Given the description of an element on the screen output the (x, y) to click on. 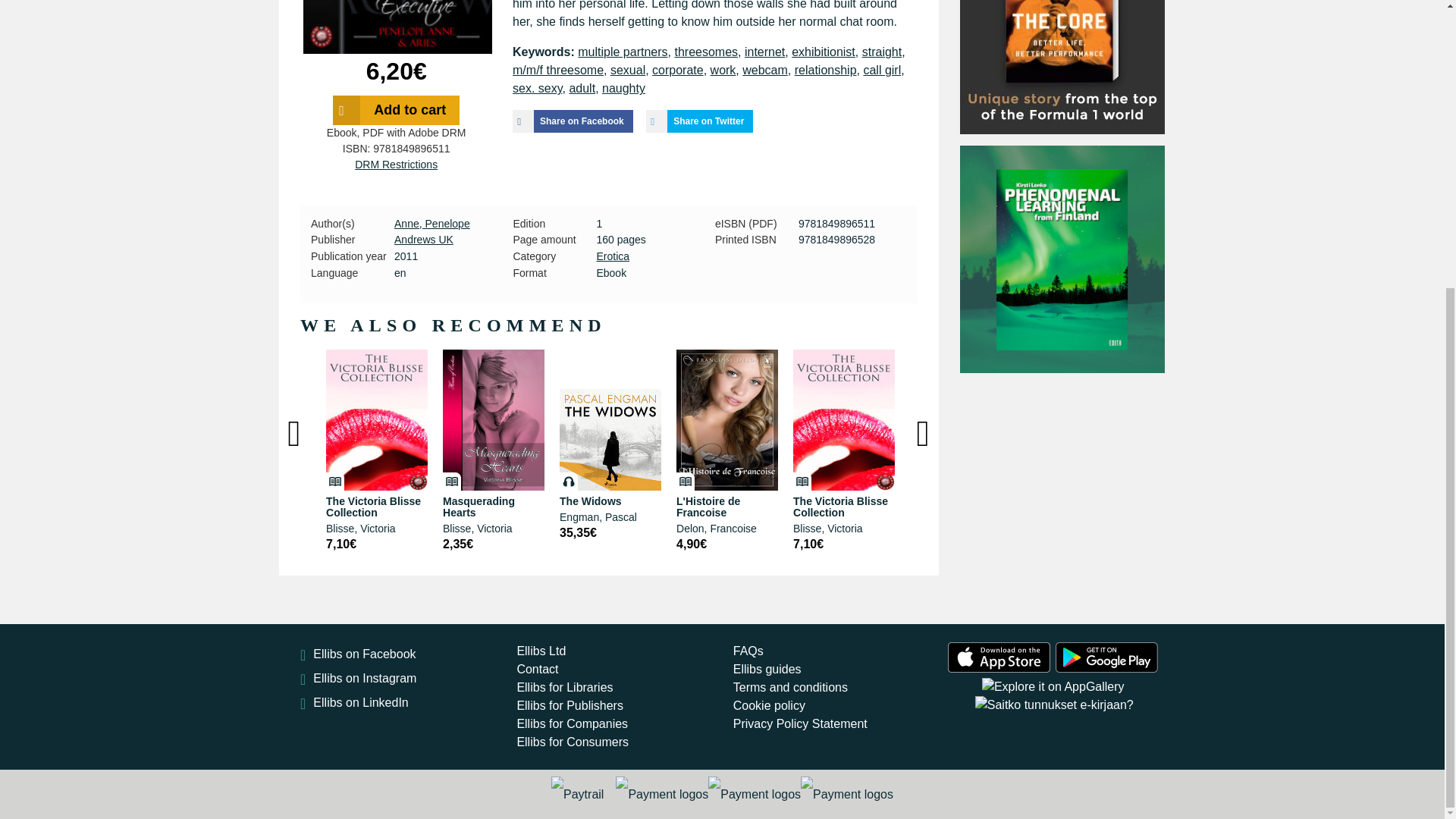
Anne, Penelope - The Black Widow Executive, ebook (397, 26)
Add to cart (396, 110)
work (723, 69)
Ebook (451, 481)
threesomes (706, 51)
exhibitionist (824, 51)
Share on Facebook (572, 120)
sexual (627, 69)
Audiobook (568, 481)
webcam (764, 69)
